Given the description of an element on the screen output the (x, y) to click on. 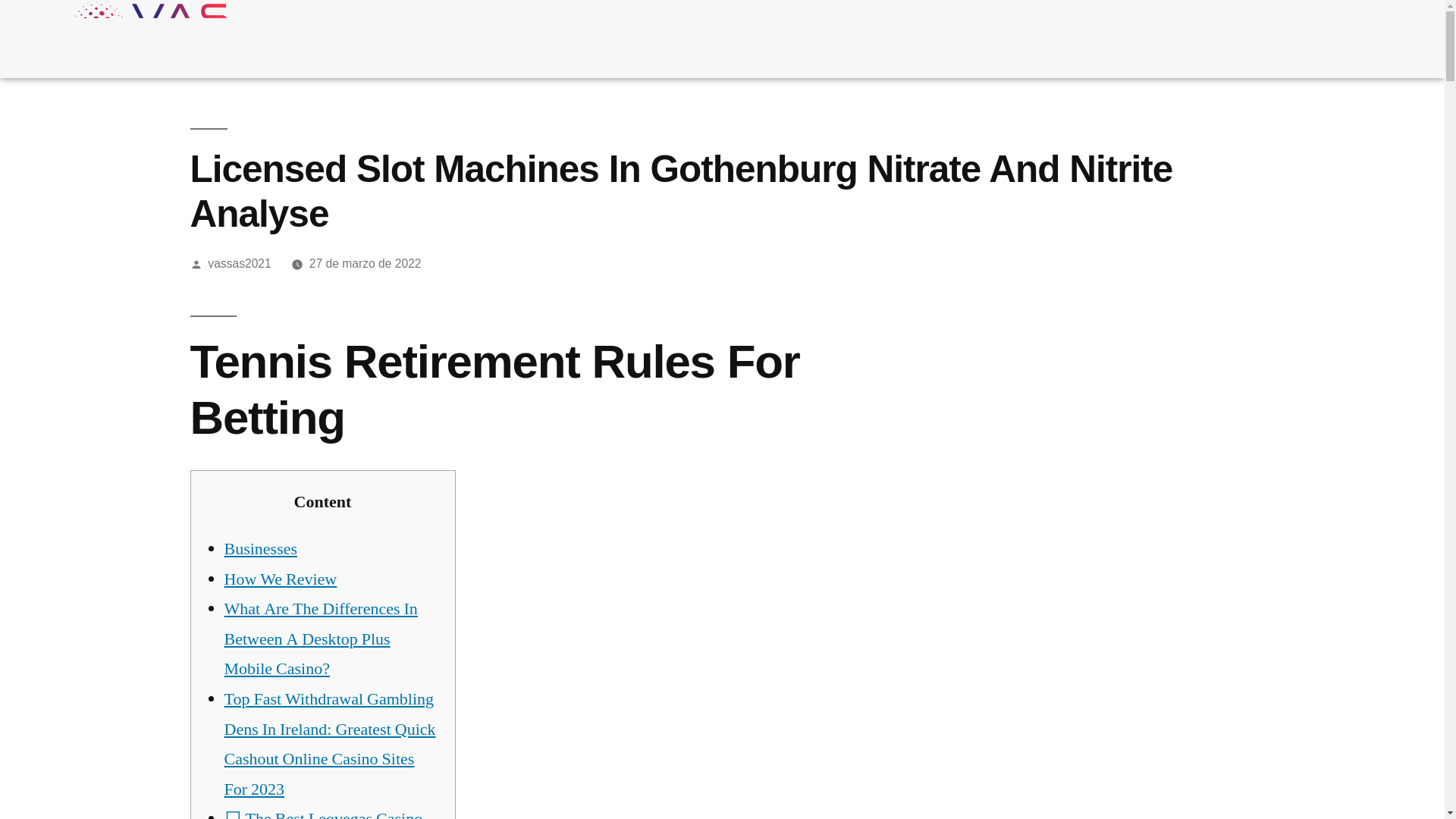
Businesses (261, 548)
27 de marzo de 2022 (365, 263)
How We Review (280, 578)
vassas2021 (239, 263)
